Given the description of an element on the screen output the (x, y) to click on. 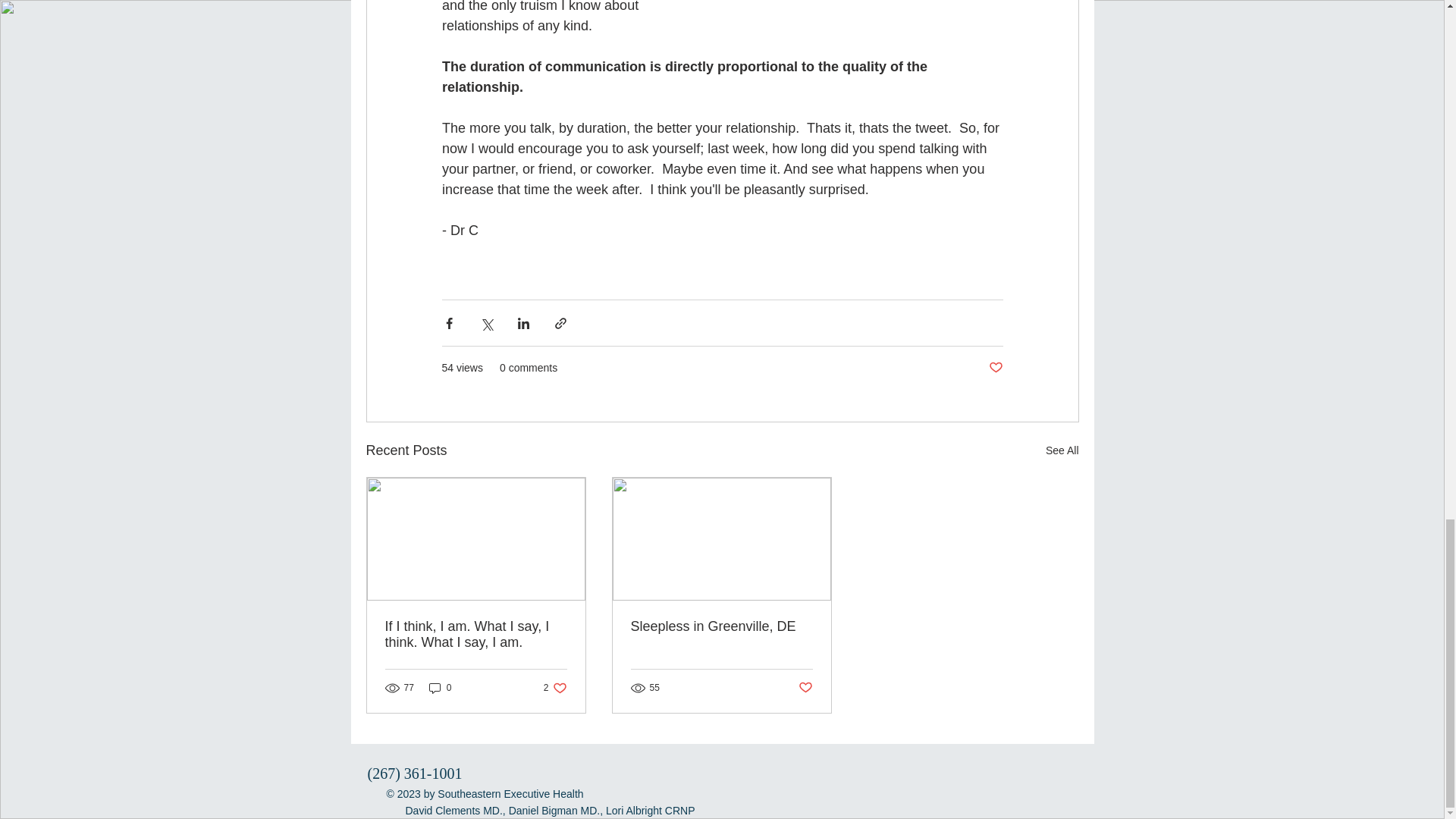
Post not marked as liked (555, 687)
Post not marked as liked (995, 367)
0 (804, 688)
If I think, I am. What I say, I think. What I say, I am. (440, 687)
Sleepless in Greenville, DE (476, 634)
See All (721, 626)
